Given the description of an element on the screen output the (x, y) to click on. 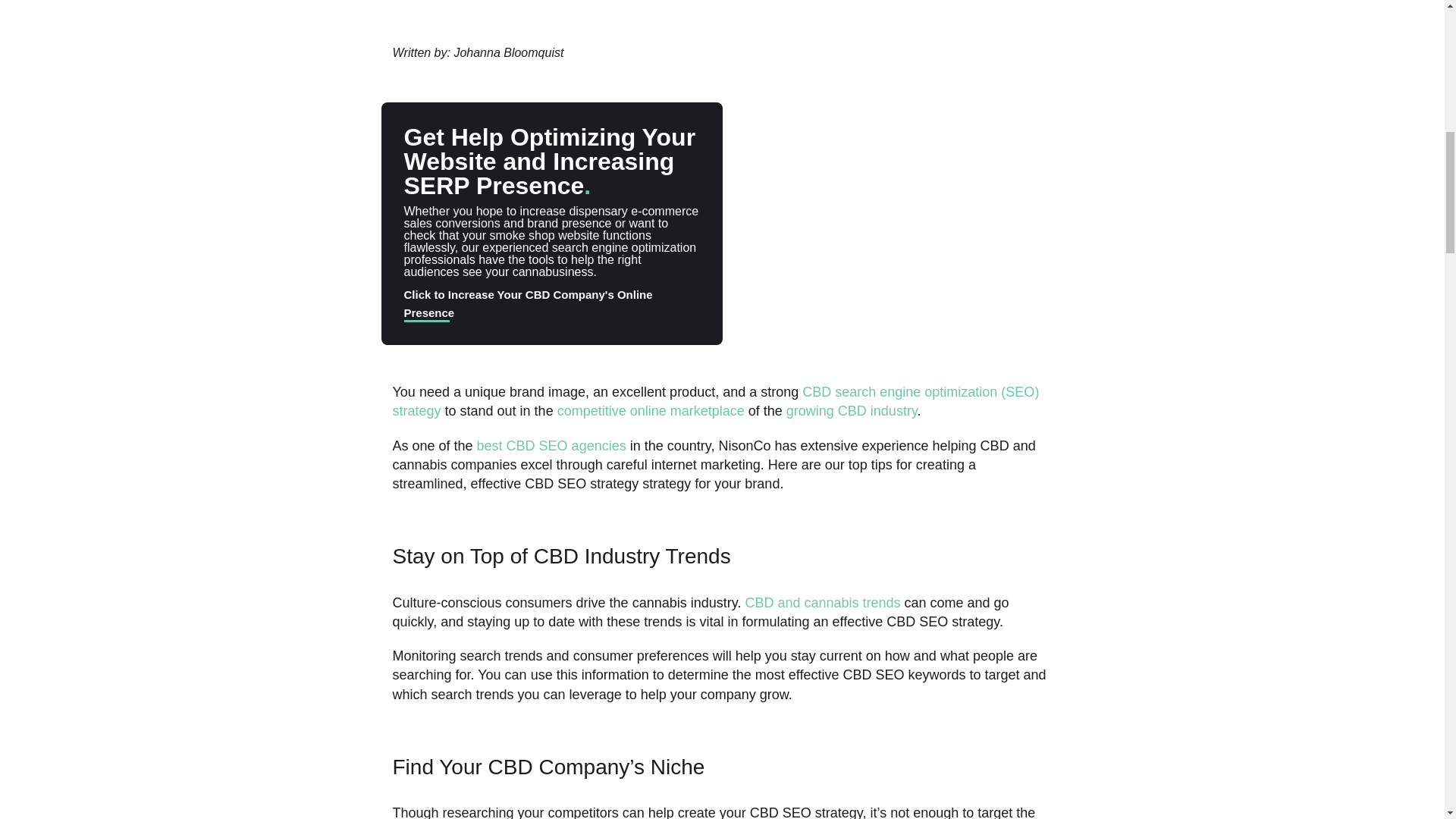
SEO for CBD And Hemp Companies (551, 445)
38 E-Commerce Statistics Of 2023 (650, 410)
2024 CBD Keywords and Search Phrases for CBD and Hemp SEO (716, 401)
CBD retail in the United States - Statistics and Facts (851, 410)
